Given the description of an element on the screen output the (x, y) to click on. 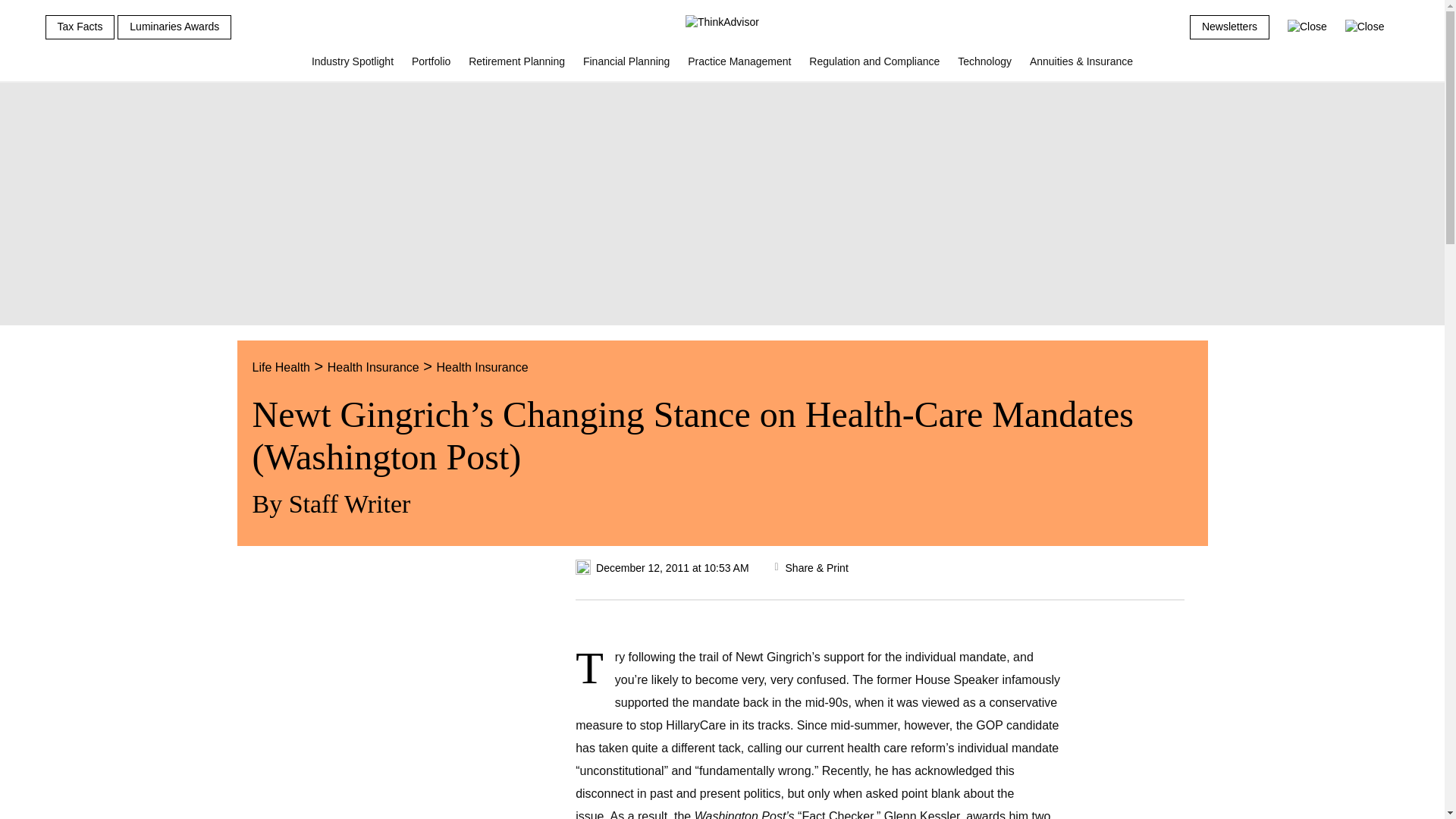
Tax Facts (80, 27)
Luminaries Awards (174, 27)
Newsletters (1229, 27)
Industry Spotlight (352, 67)
